Given the description of an element on the screen output the (x, y) to click on. 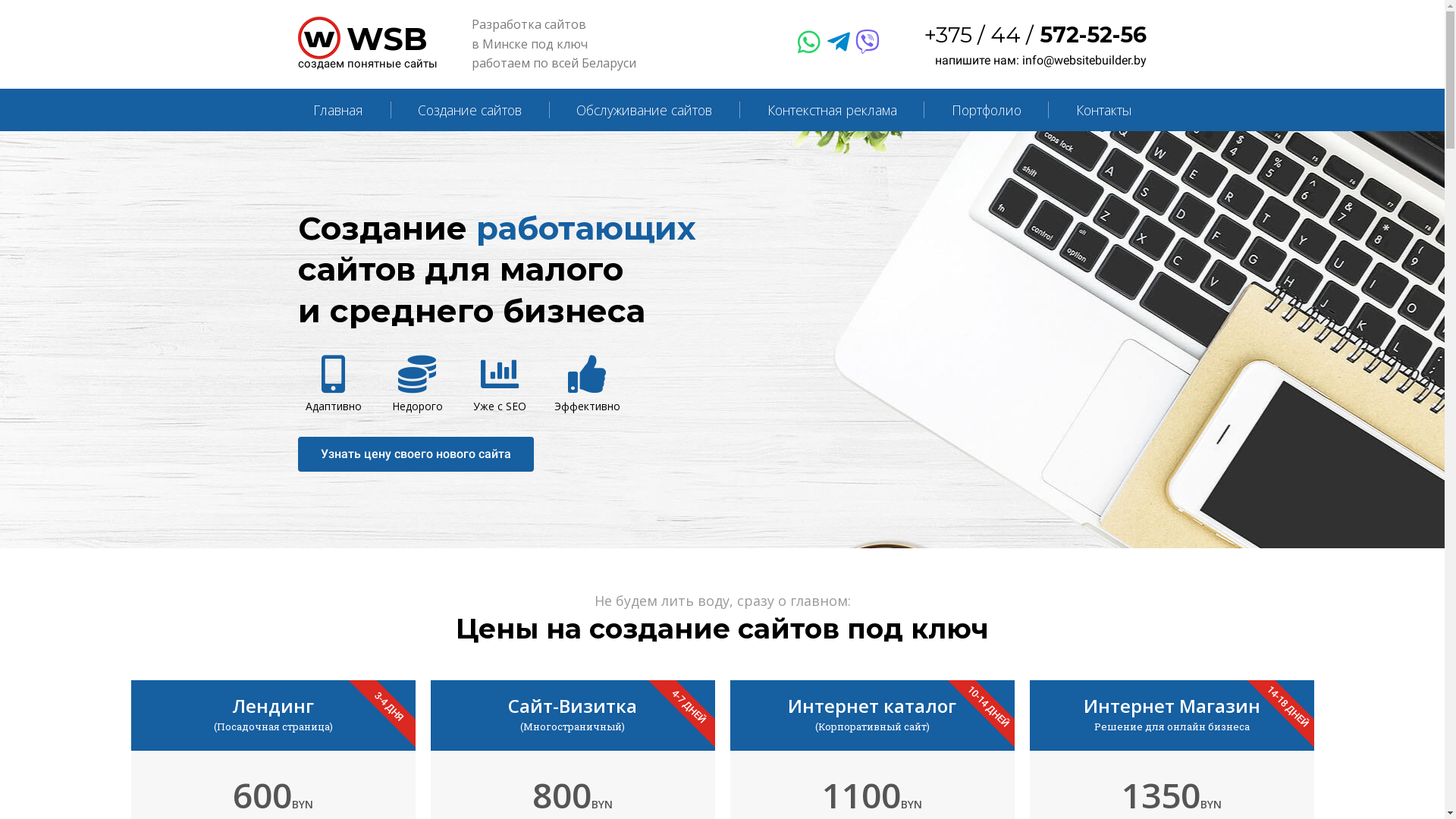
+375 / 44 / 572-52-56 Element type: text (1035, 34)
info@websitebuilder.by Element type: text (1084, 60)
